Given the description of an element on the screen output the (x, y) to click on. 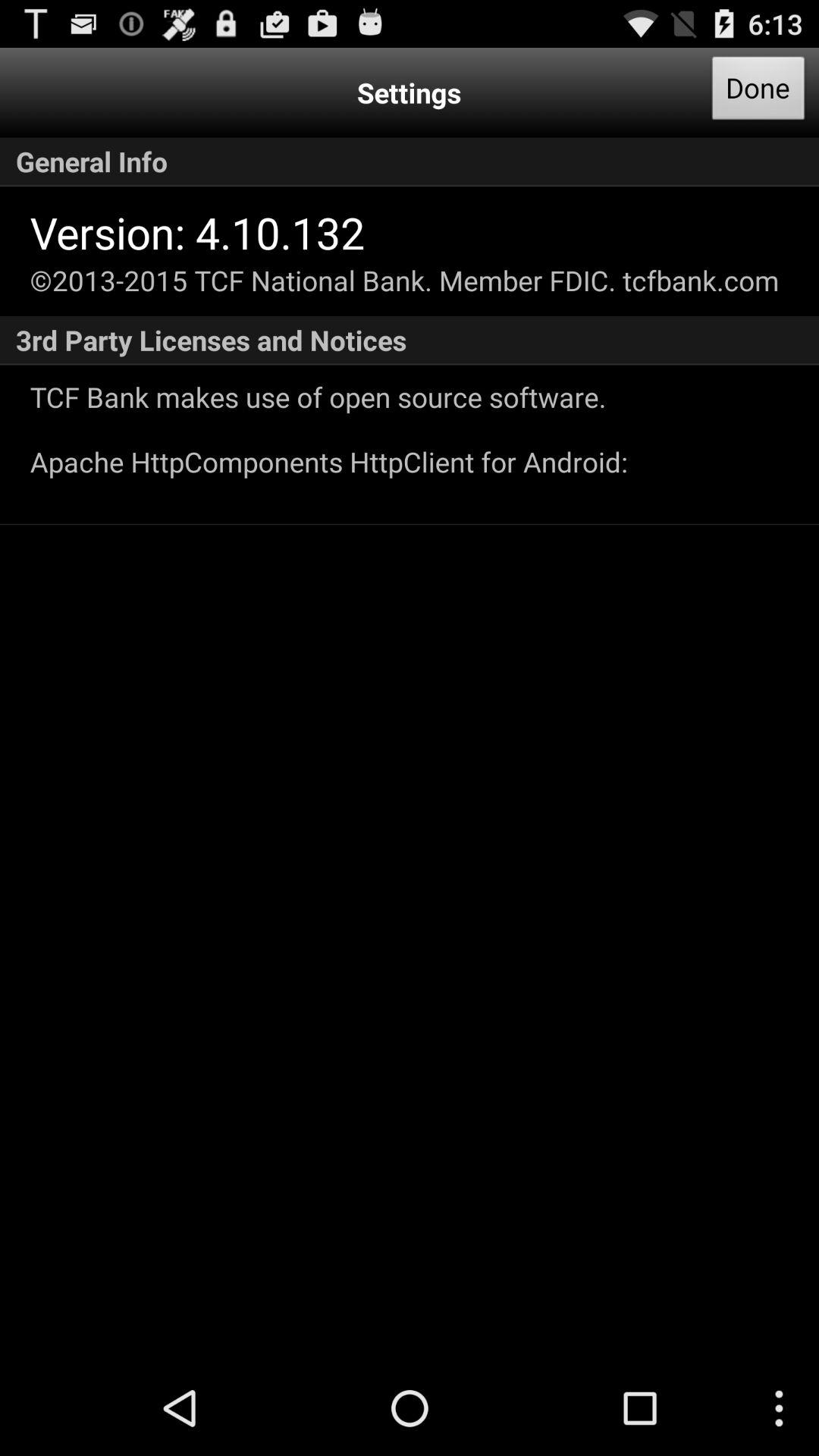
turn off button at the top right corner (758, 92)
